Given the description of an element on the screen output the (x, y) to click on. 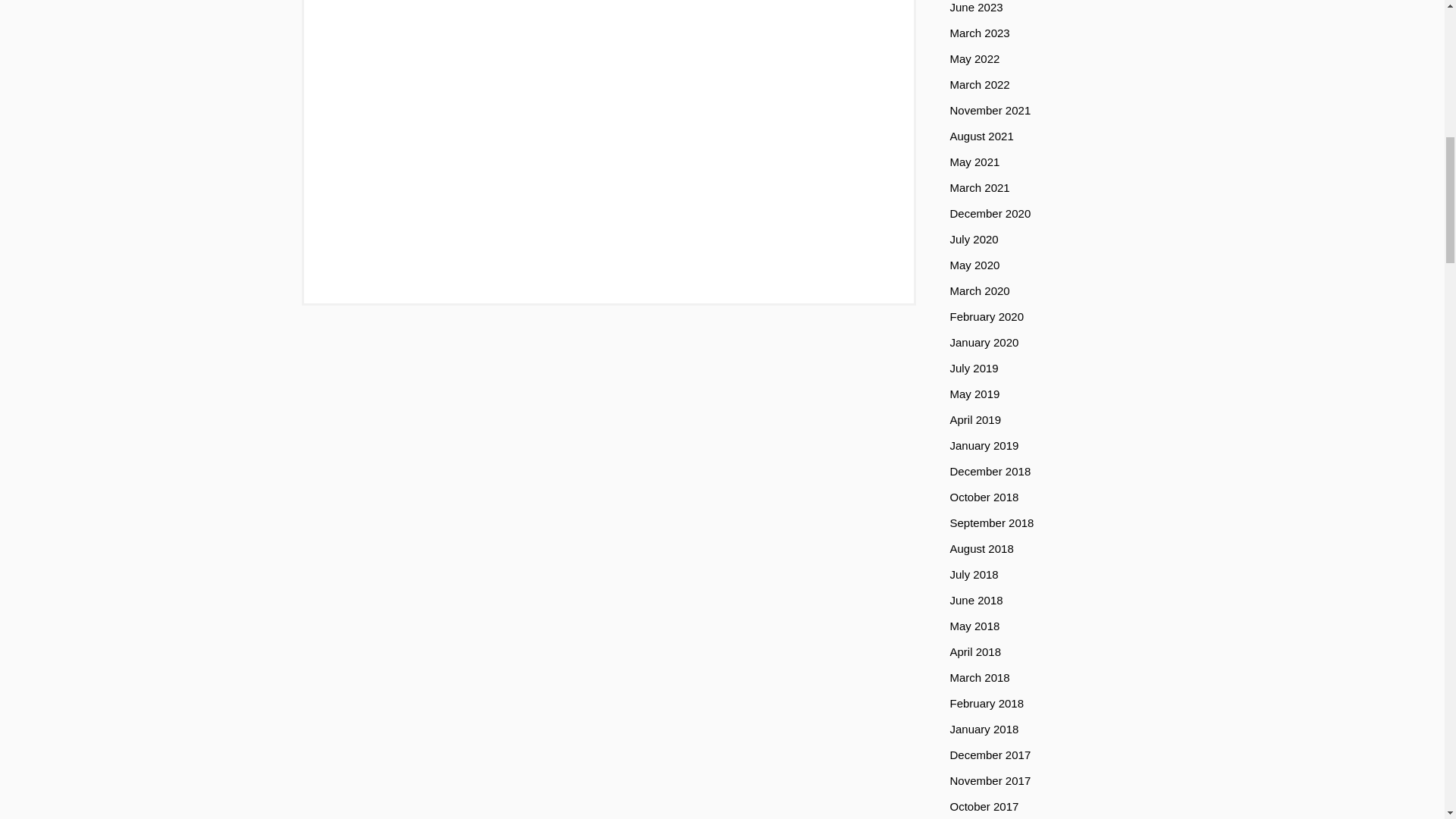
March 2023 (979, 31)
May 2022 (973, 57)
November 2021 (989, 109)
July 2020 (973, 237)
May 2021 (973, 160)
August 2021 (981, 134)
March 2021 (979, 186)
March 2022 (979, 83)
December 2020 (989, 212)
June 2023 (976, 6)
